Given the description of an element on the screen output the (x, y) to click on. 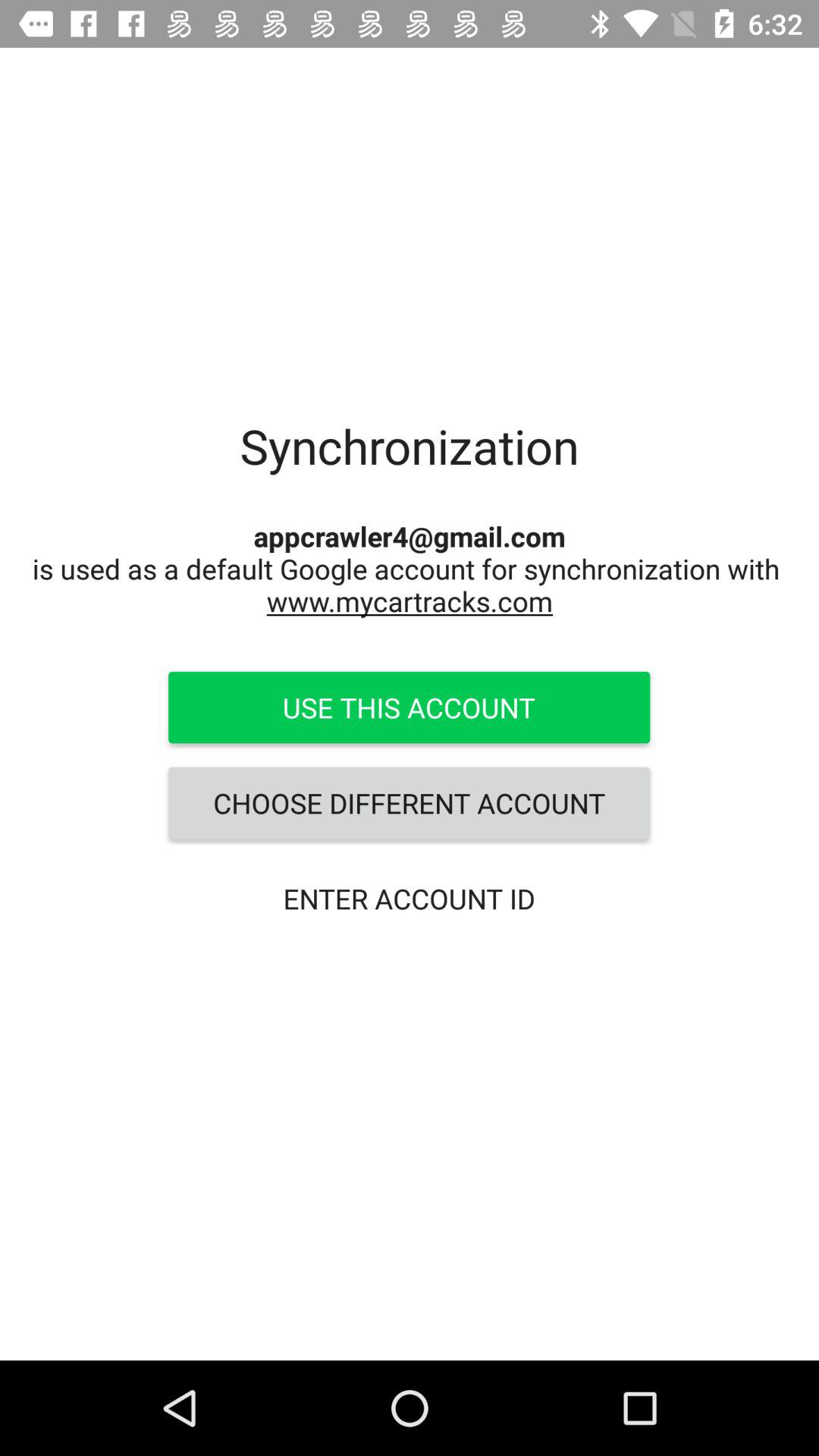
press icon above the enter account id icon (409, 802)
